Given the description of an element on the screen output the (x, y) to click on. 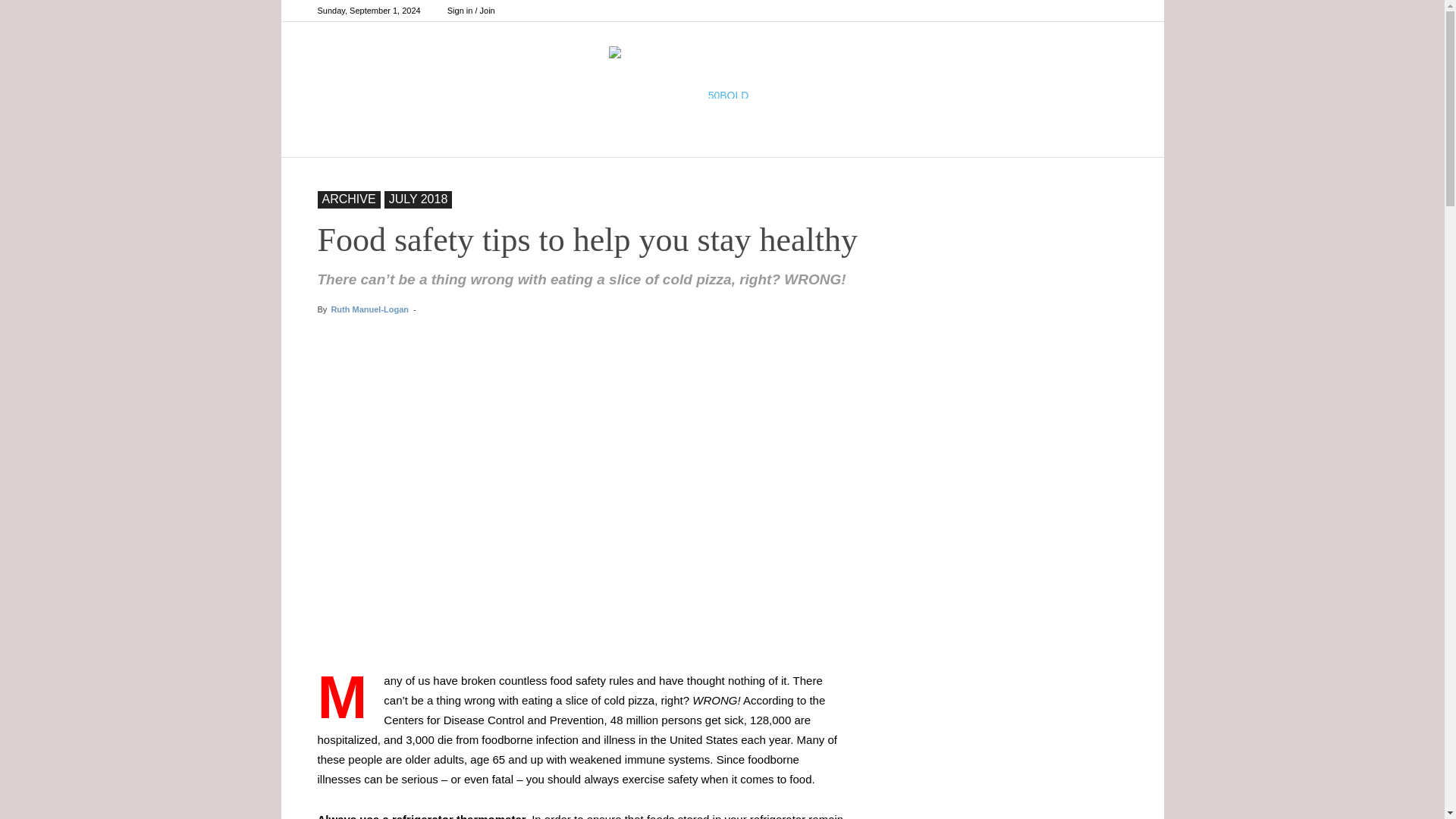
GOOD STUFF (772, 138)
ENTERTAINMENT (496, 138)
50BOLD (722, 71)
HOME (397, 138)
Facebook (1065, 10)
LIFESTYLE (948, 138)
Mail (1114, 10)
HEALTH (865, 138)
Instagram (1090, 10)
ARCHIVE (1036, 138)
